Given the description of an element on the screen output the (x, y) to click on. 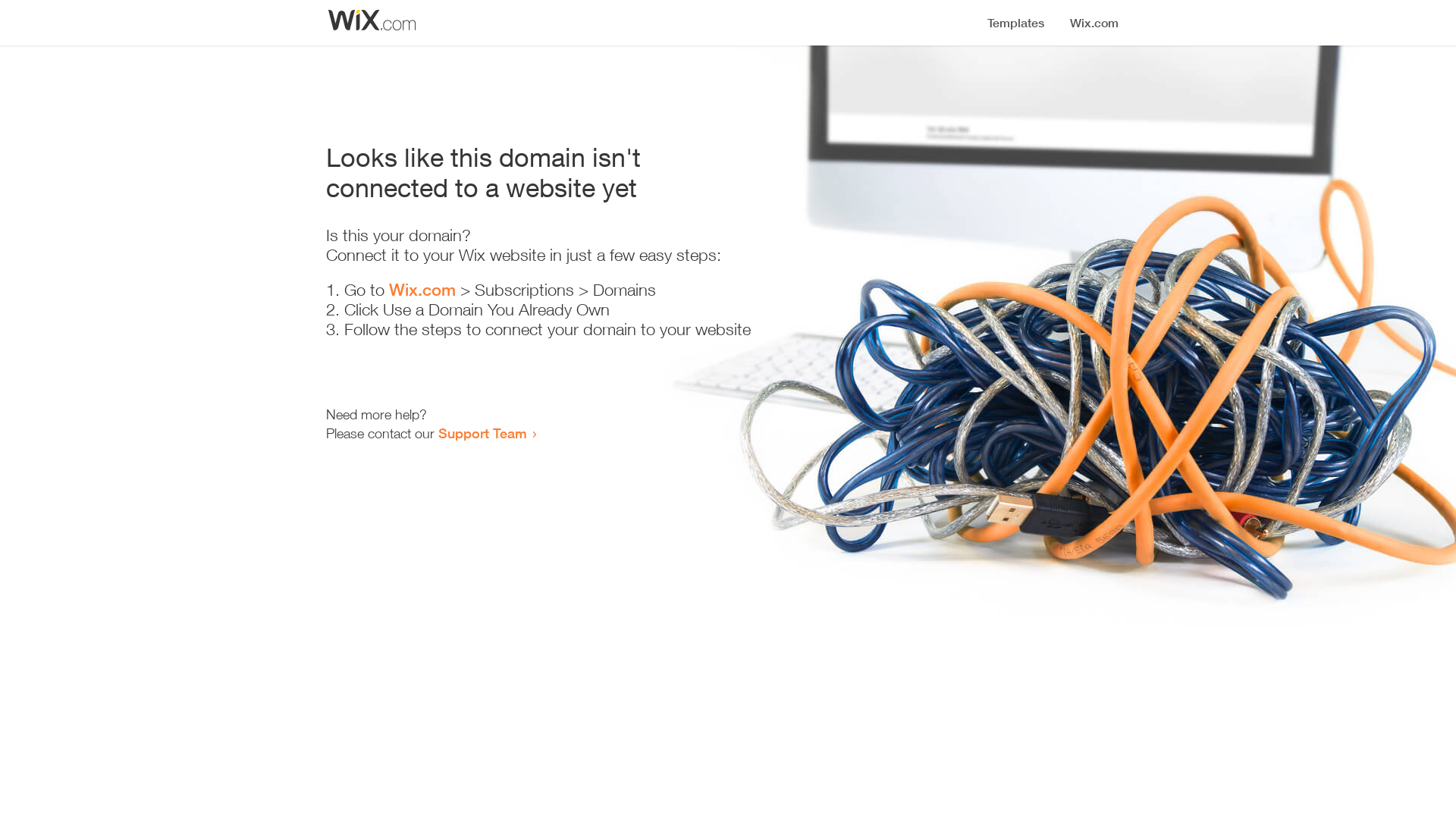
Wix.com Element type: text (422, 289)
Support Team Element type: text (482, 432)
